Given the description of an element on the screen output the (x, y) to click on. 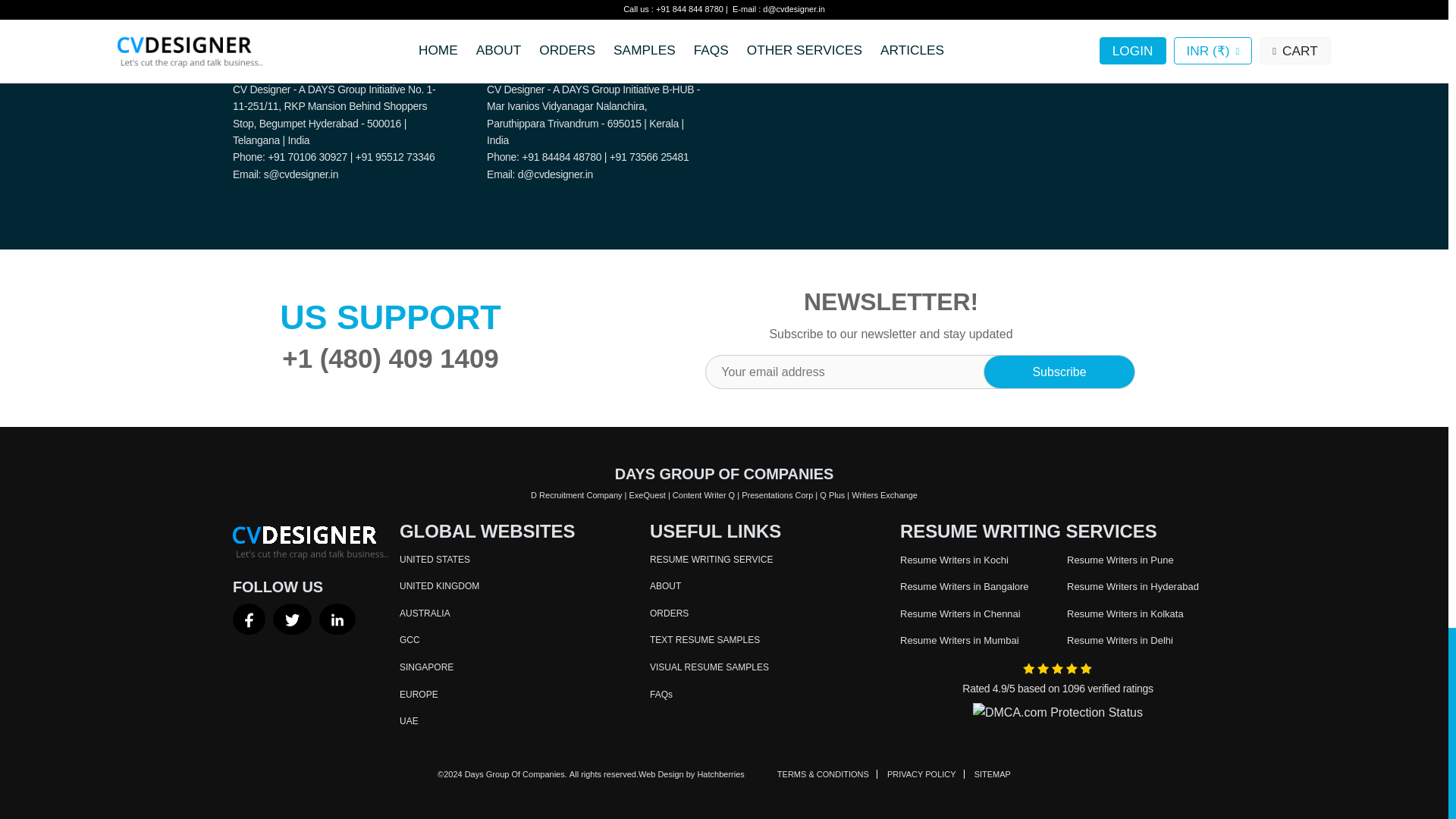
Q Plus (831, 494)
Presentations Corp (776, 494)
Content Writer Q (703, 494)
D Recruitment Company (576, 494)
ExeQuest (646, 494)
Subscribe (1059, 371)
Writers Exchange (884, 494)
